Given the description of an element on the screen output the (x, y) to click on. 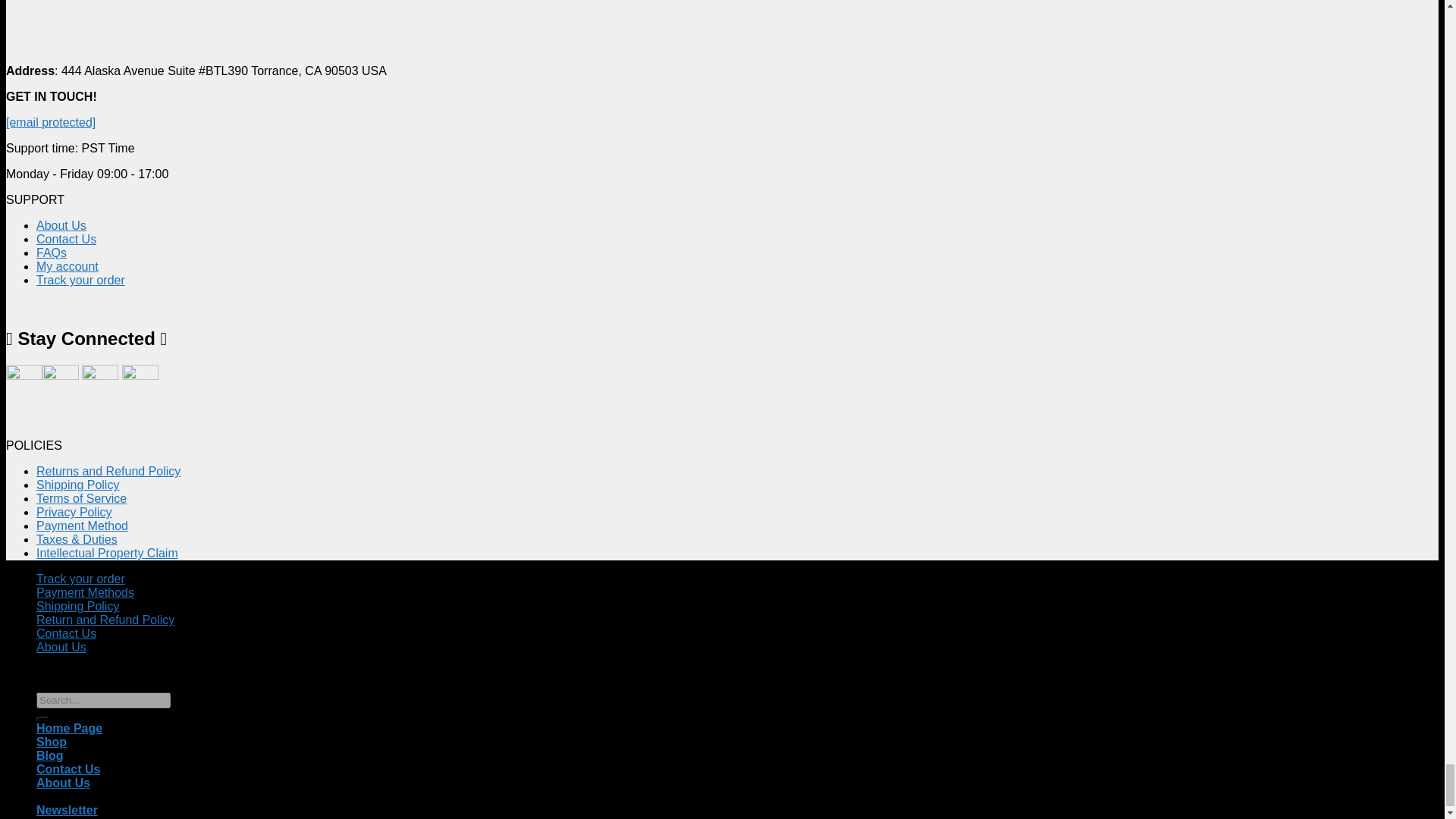
About Us (60, 225)
Track your order (80, 279)
Contact Us (66, 238)
My account (67, 266)
FAQs (51, 252)
Sign up for Newsletter (66, 809)
